Given the description of an element on the screen output the (x, y) to click on. 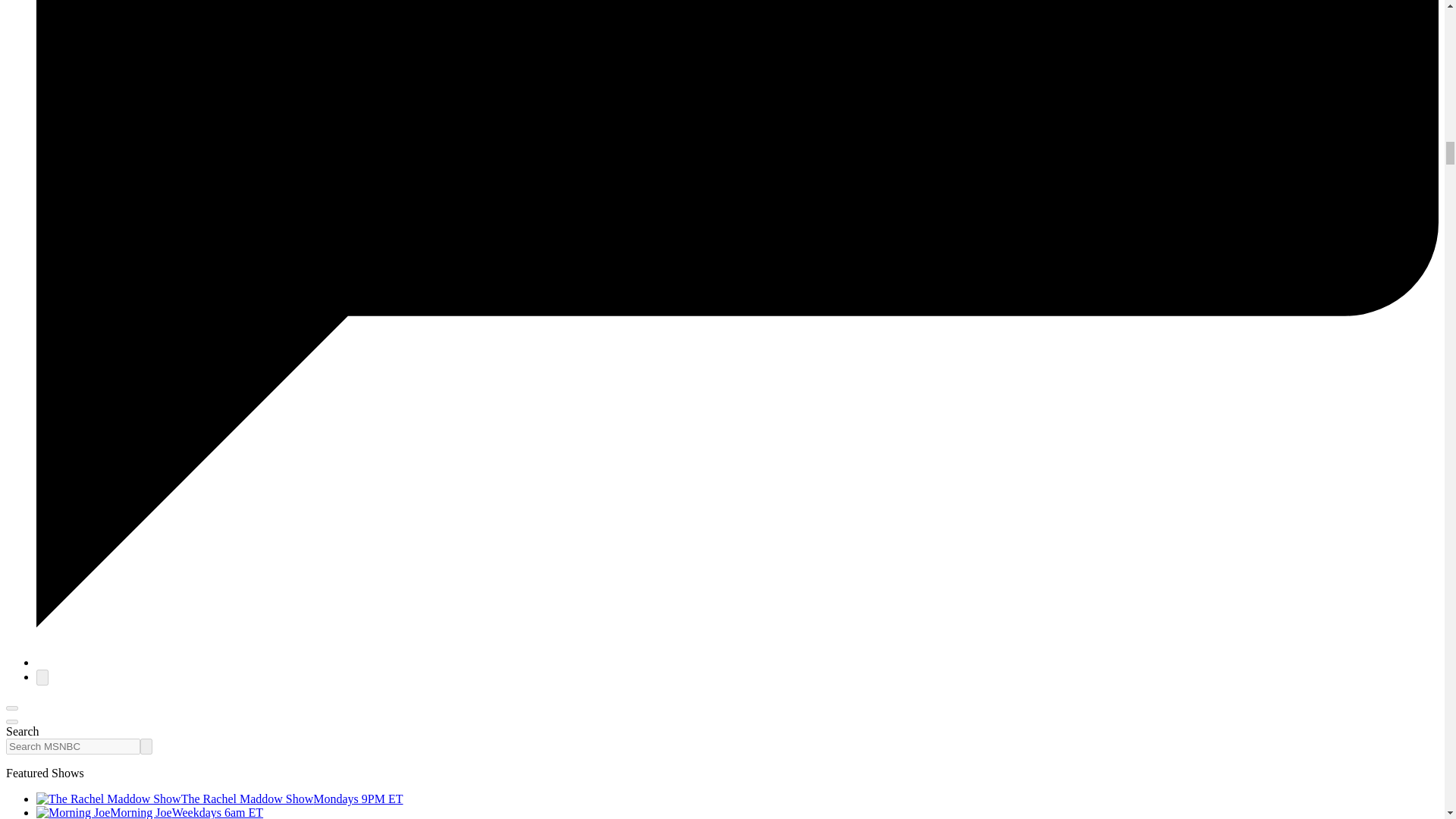
The Rachel Maddow ShowMondays 9PM ET (219, 798)
Morning JoeWeekdays 6am ET (149, 812)
